Given the description of an element on the screen output the (x, y) to click on. 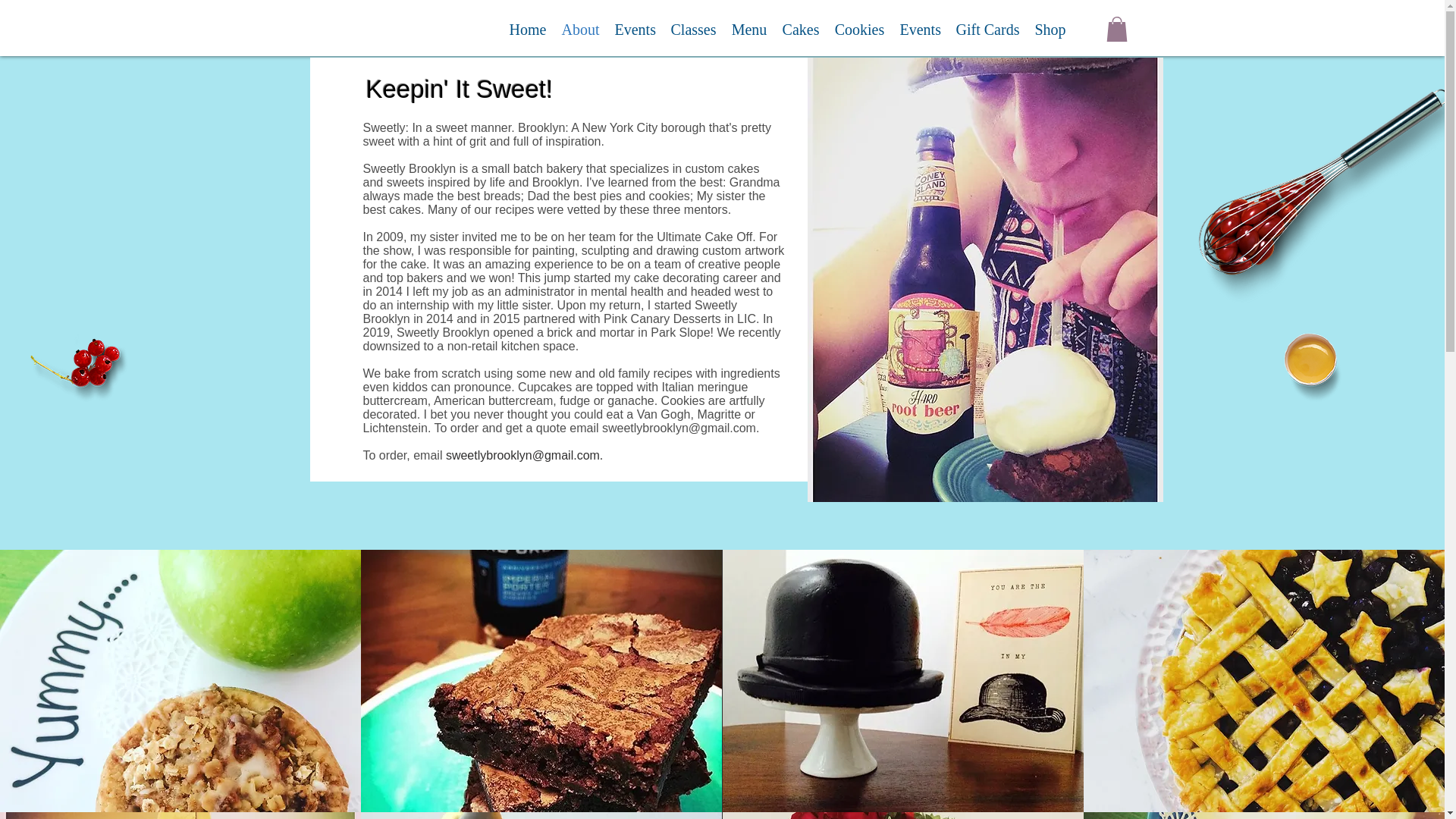
Home (528, 29)
About (580, 29)
Cakes (800, 29)
Classes (692, 29)
Shop (1049, 29)
Events (634, 29)
Events (919, 29)
Gift Cards (986, 29)
Cookies (859, 29)
